Given the description of an element on the screen output the (x, y) to click on. 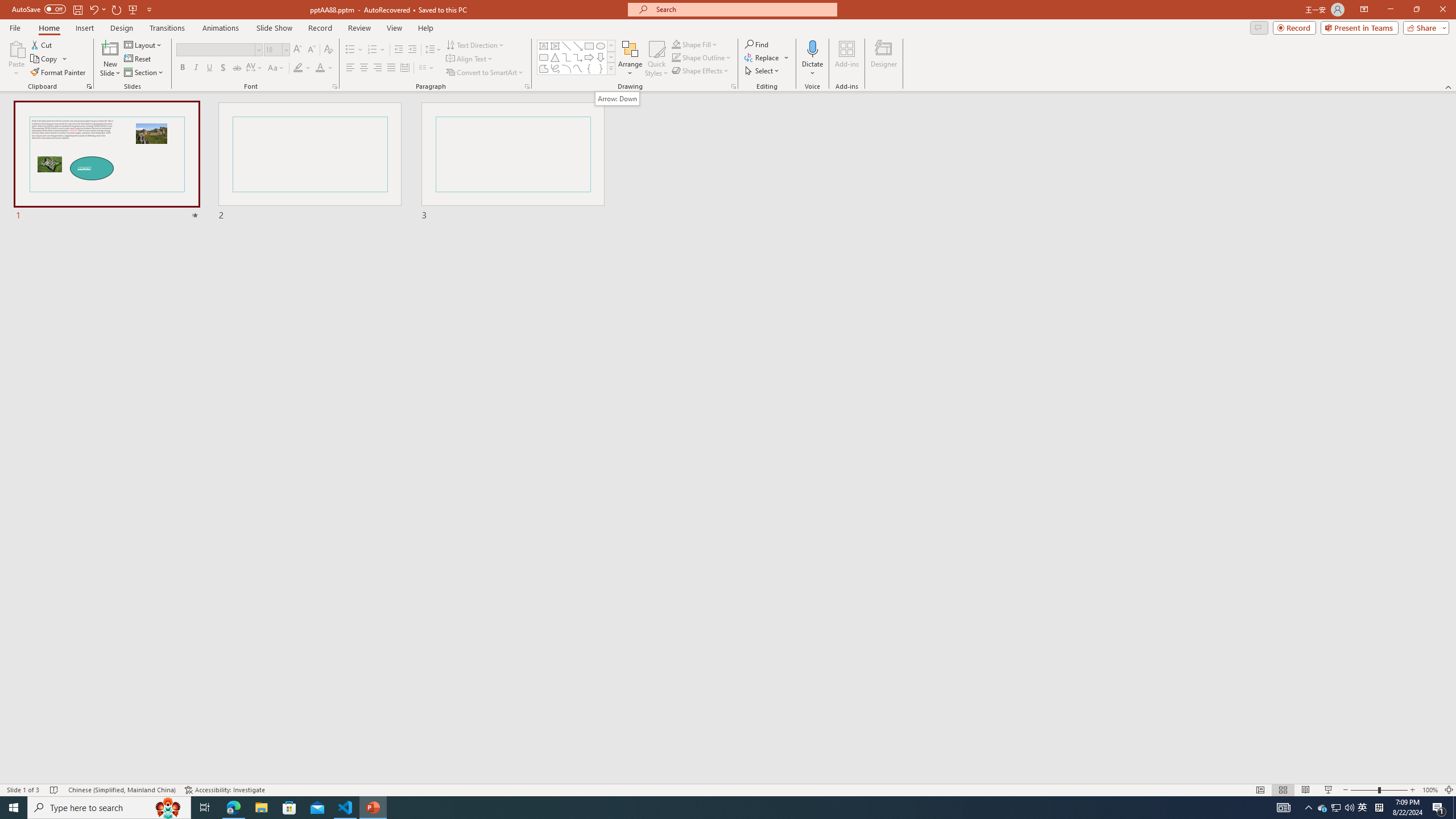
Shape Fill (694, 44)
Curve (577, 68)
Line (566, 45)
Decrease Font Size (310, 49)
Section (144, 72)
Left Brace (589, 68)
Line Spacing (433, 49)
Align Right (377, 67)
